Given the description of an element on the screen output the (x, y) to click on. 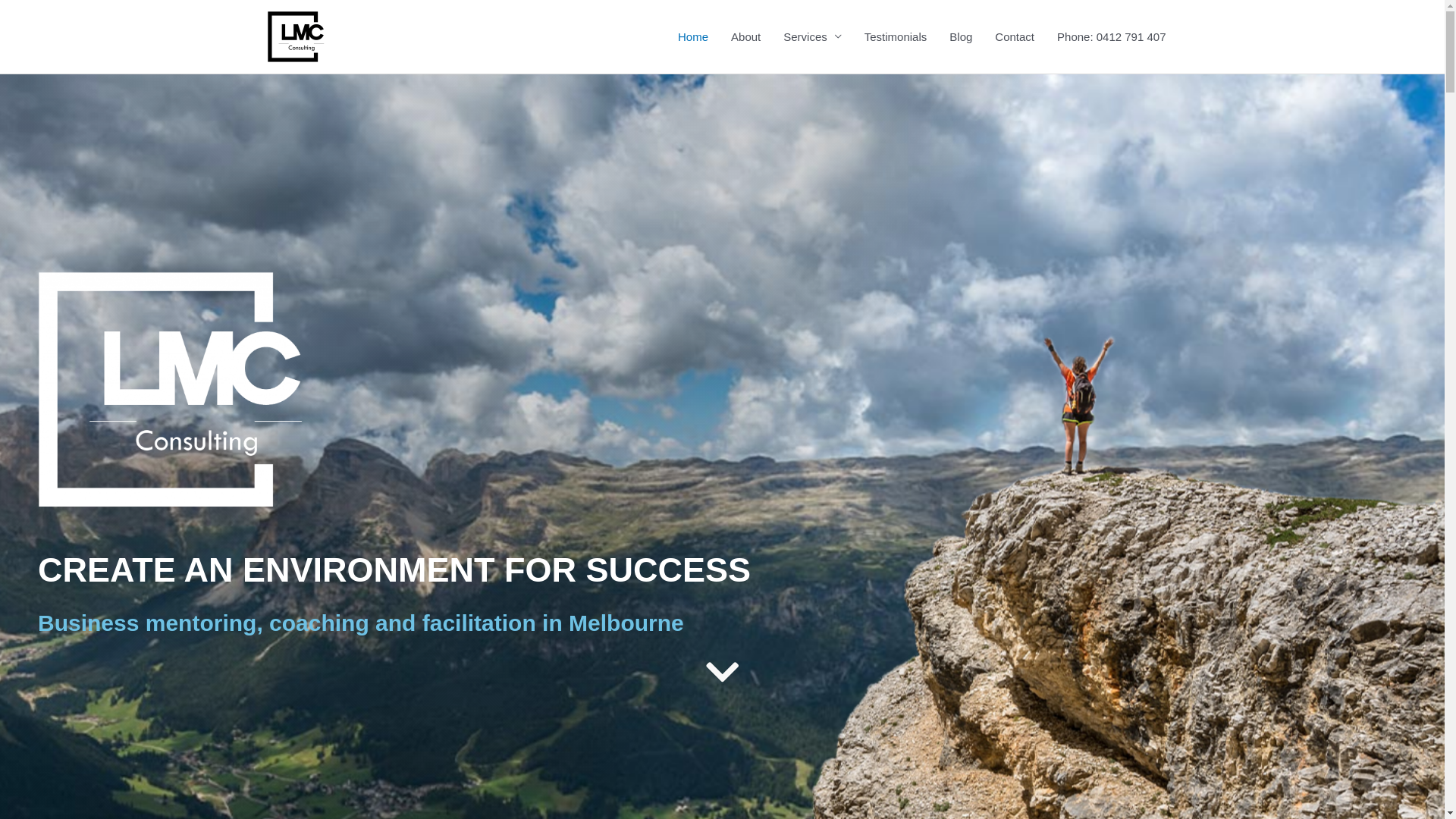
Home Element type: text (692, 36)
Contact Element type: text (1014, 36)
Testimonials Element type: text (895, 36)
About Element type: text (745, 36)
Services Element type: text (812, 36)
Blog Element type: text (960, 36)
